Given the description of an element on the screen output the (x, y) to click on. 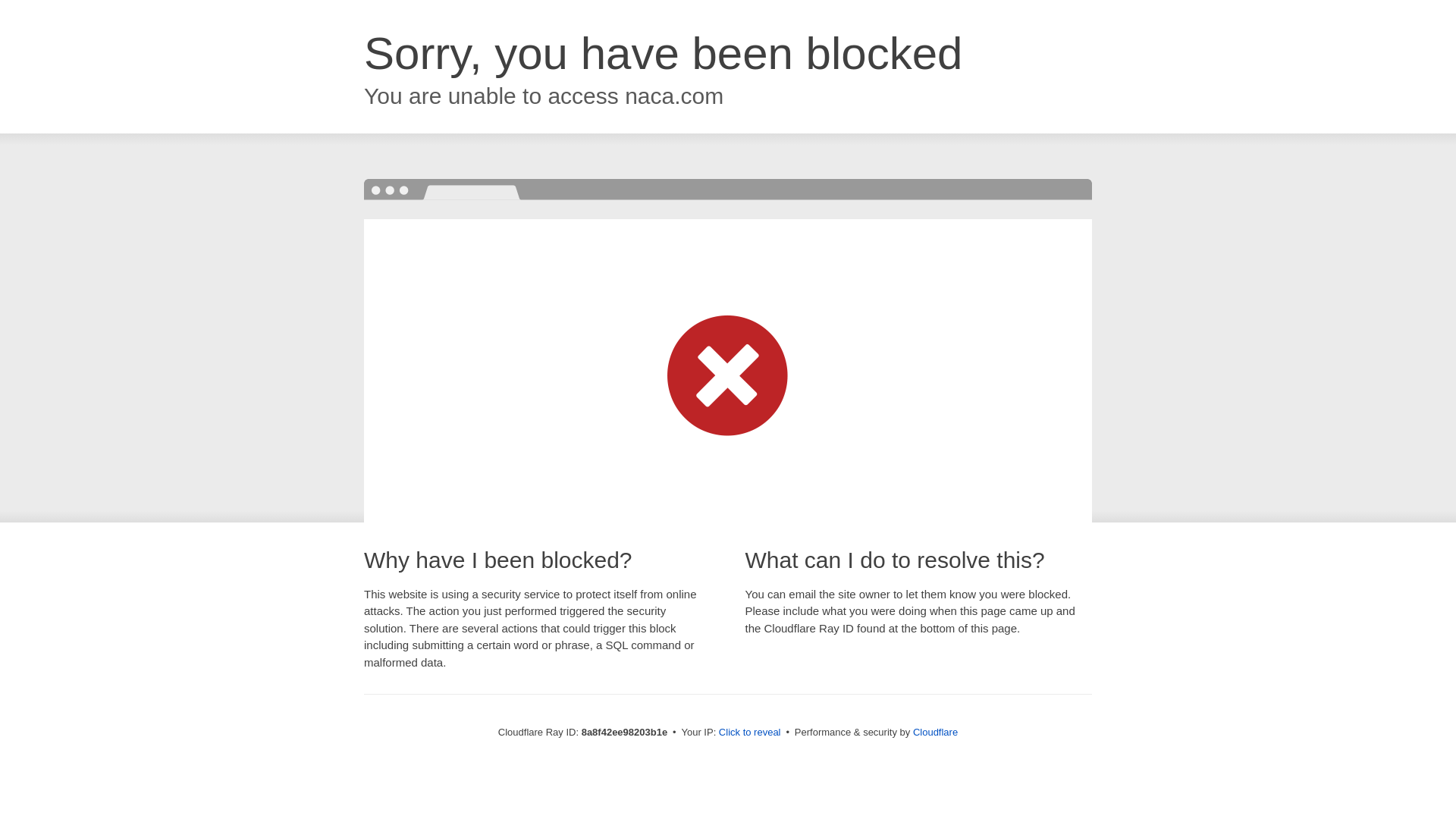
Click to reveal (749, 732)
Cloudflare (935, 731)
